Given the description of an element on the screen output the (x, y) to click on. 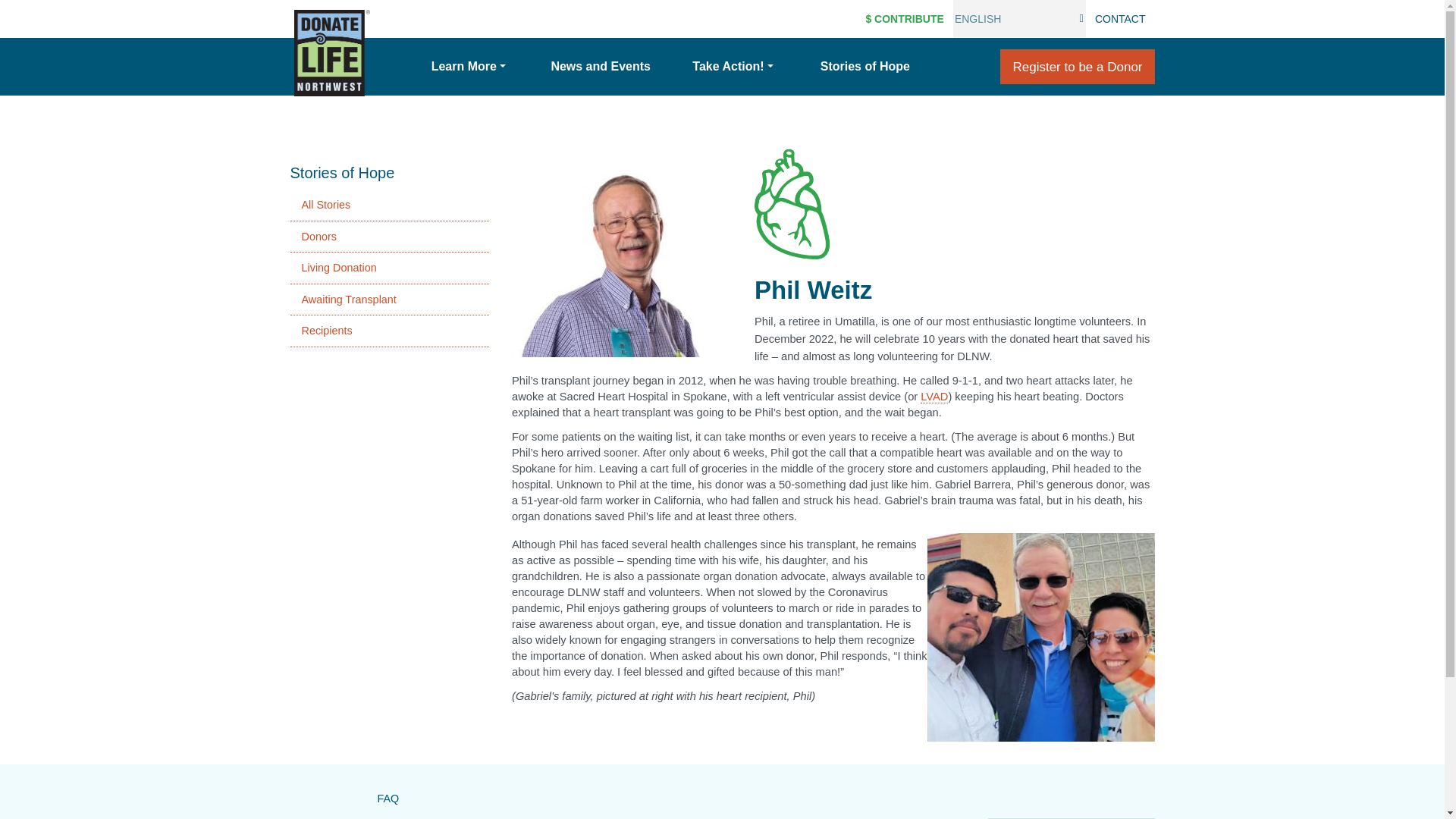
CONTACT (1120, 18)
Home (331, 52)
News and Events (600, 66)
